Given the description of an element on the screen output the (x, y) to click on. 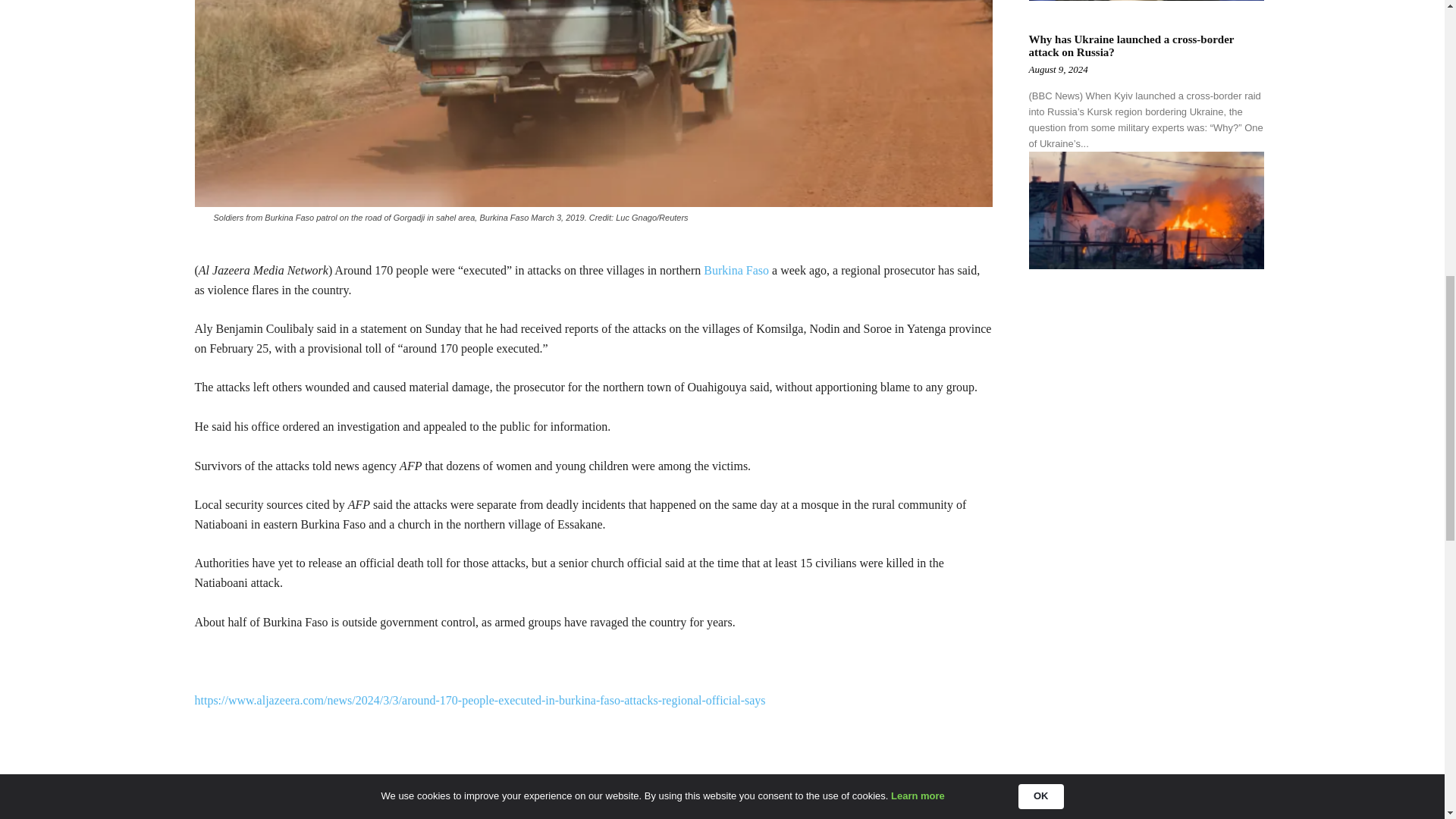
Facebook (300, 793)
Linkedin (335, 793)
